Given the description of an element on the screen output the (x, y) to click on. 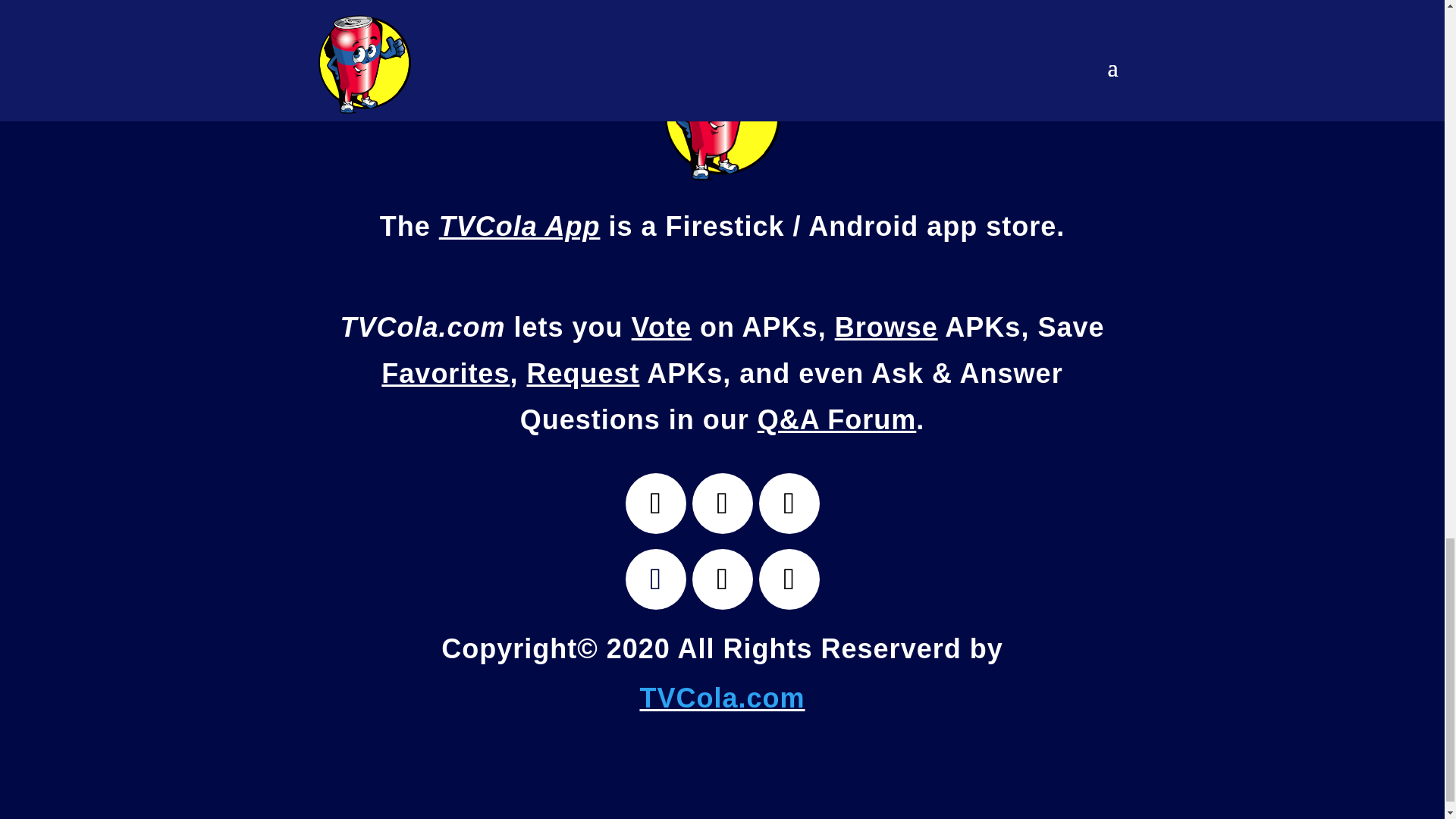
Follow on Facebook (721, 503)
Follow on Pinterest (788, 578)
Follow on Twitter (654, 503)
Follow on tumblr (721, 578)
Follow on Instagram (654, 578)
Follow on Youtube (788, 503)
